Given the description of an element on the screen output the (x, y) to click on. 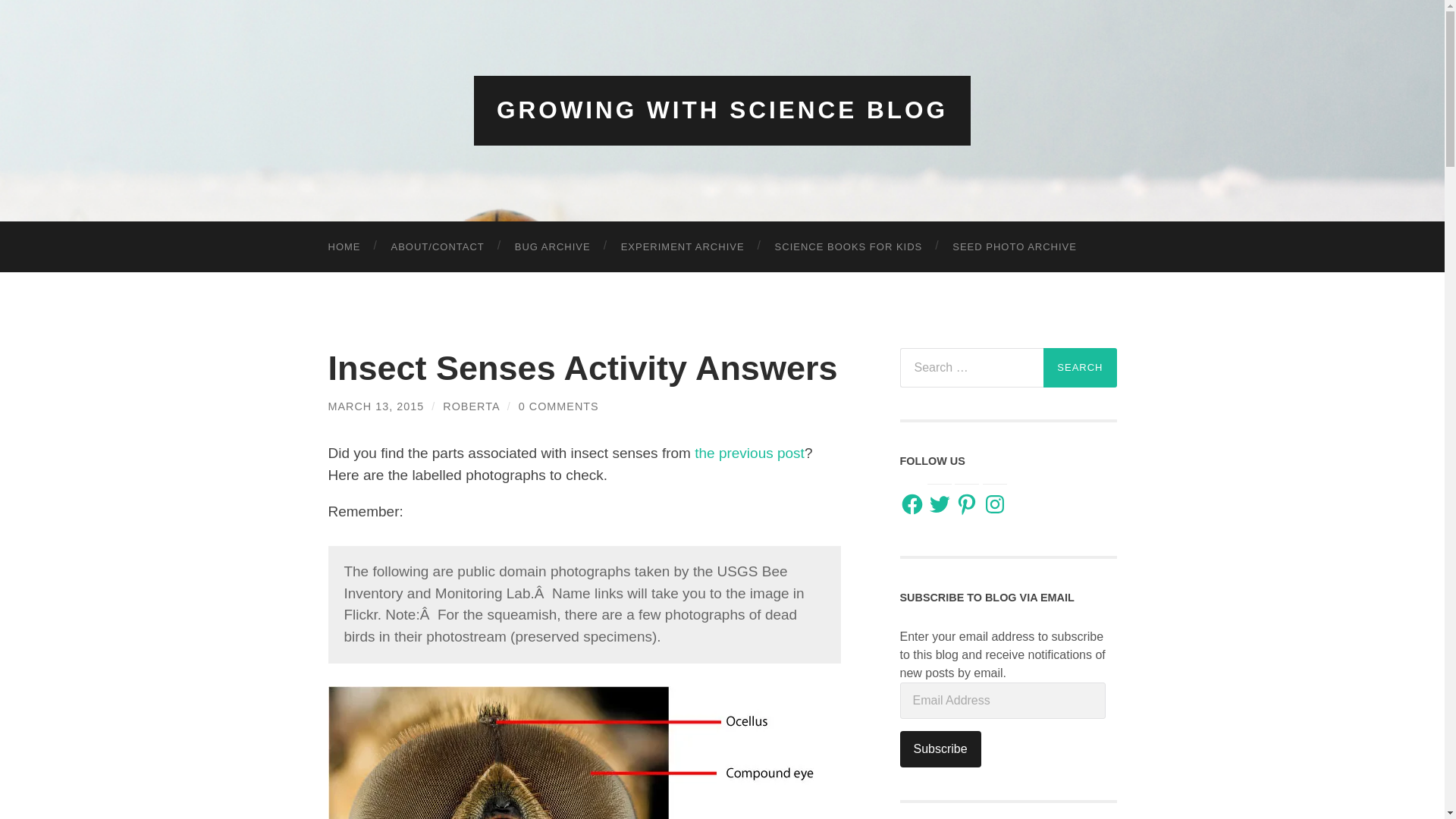
EXPERIMENT ARCHIVE (682, 246)
SCIENCE BOOKS FOR KIDS (848, 246)
SEED PHOTO ARCHIVE (1014, 246)
GROWING WITH SCIENCE BLOG (721, 109)
Search (1079, 366)
MARCH 13, 2015 (375, 406)
0 COMMENTS (558, 406)
Search (1079, 366)
HOME (344, 246)
the previous post (747, 453)
